Given the description of an element on the screen output the (x, y) to click on. 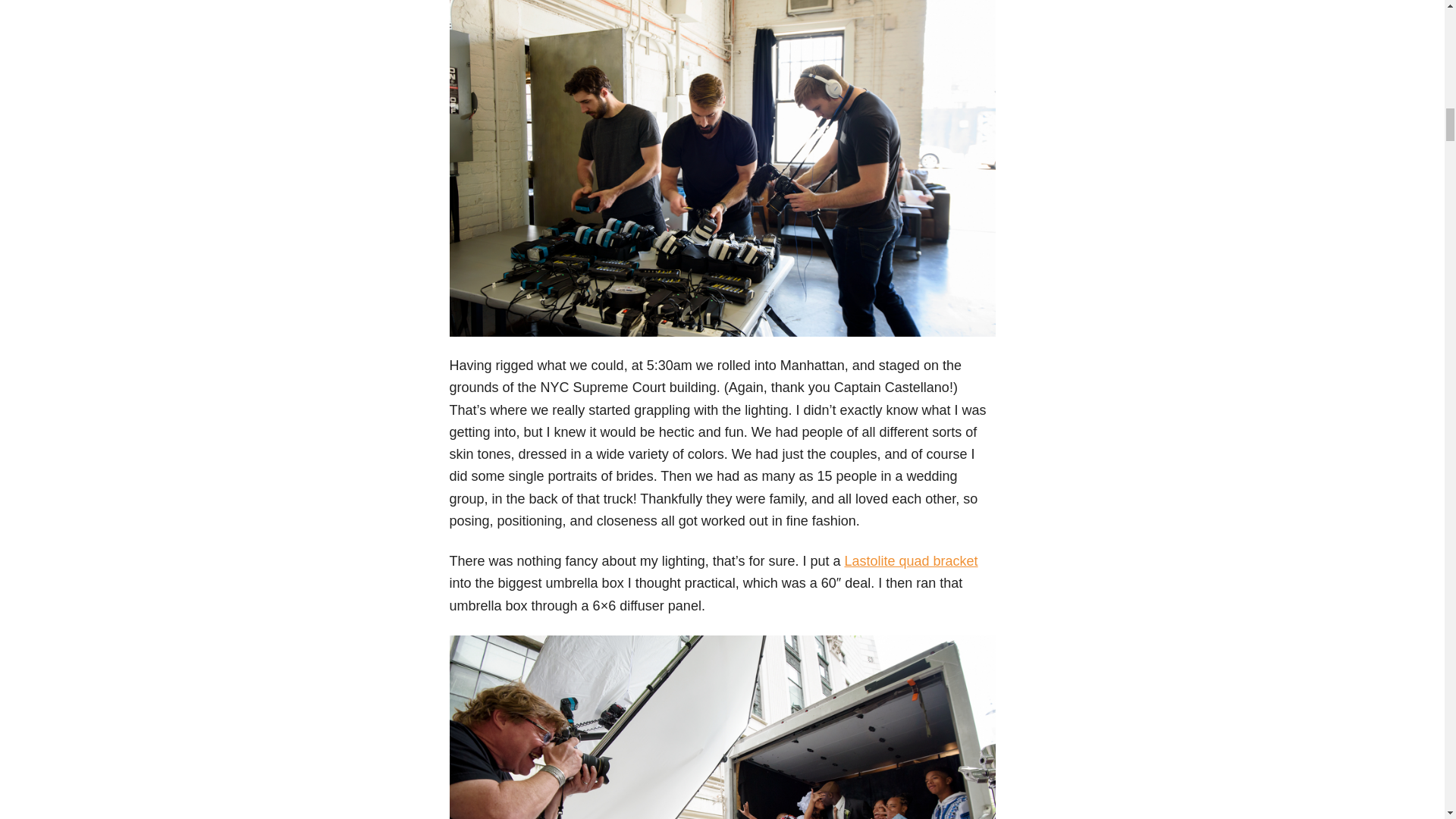
Lastolite quad bracket (910, 560)
